Given the description of an element on the screen output the (x, y) to click on. 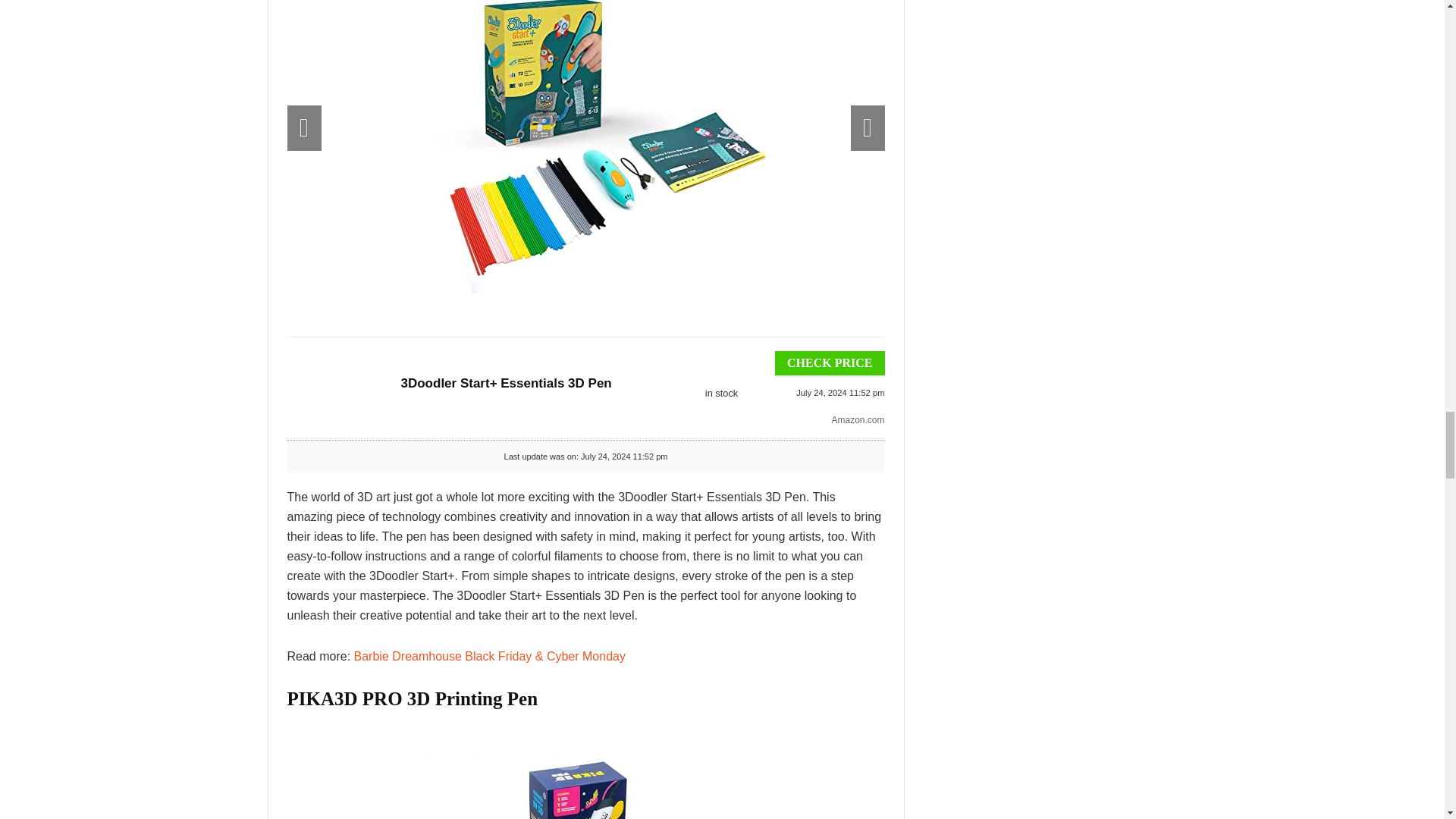
Last update was in: July 24, 2024 11:52 pm (720, 393)
